Given the description of an element on the screen output the (x, y) to click on. 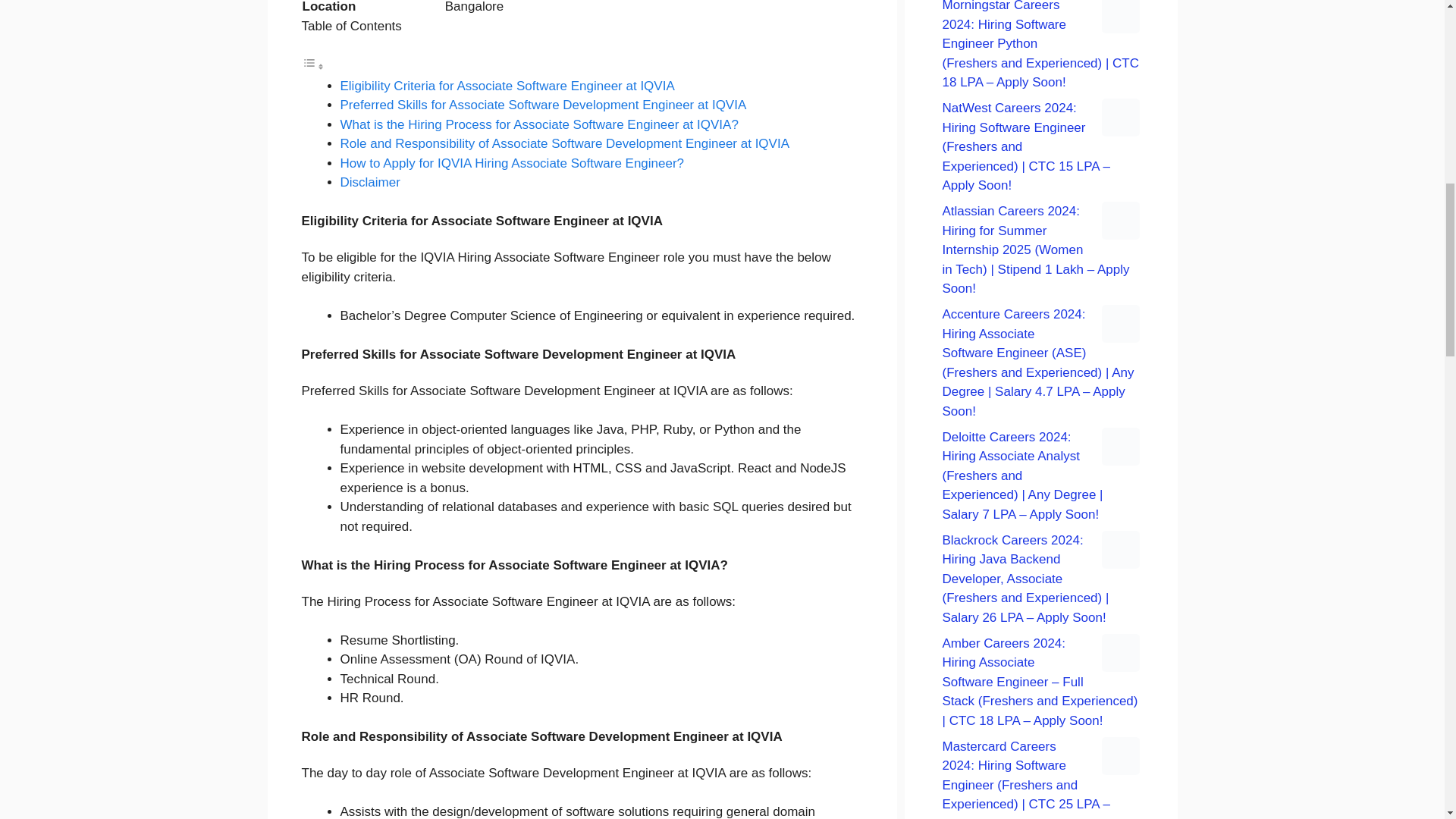
How to Apply for IQVIA Hiring Associate Software Engineer? (511, 163)
Disclaimer (368, 182)
Disclaimer (368, 182)
How to Apply for IQVIA Hiring Associate Software Engineer? (511, 163)
